Given the description of an element on the screen output the (x, y) to click on. 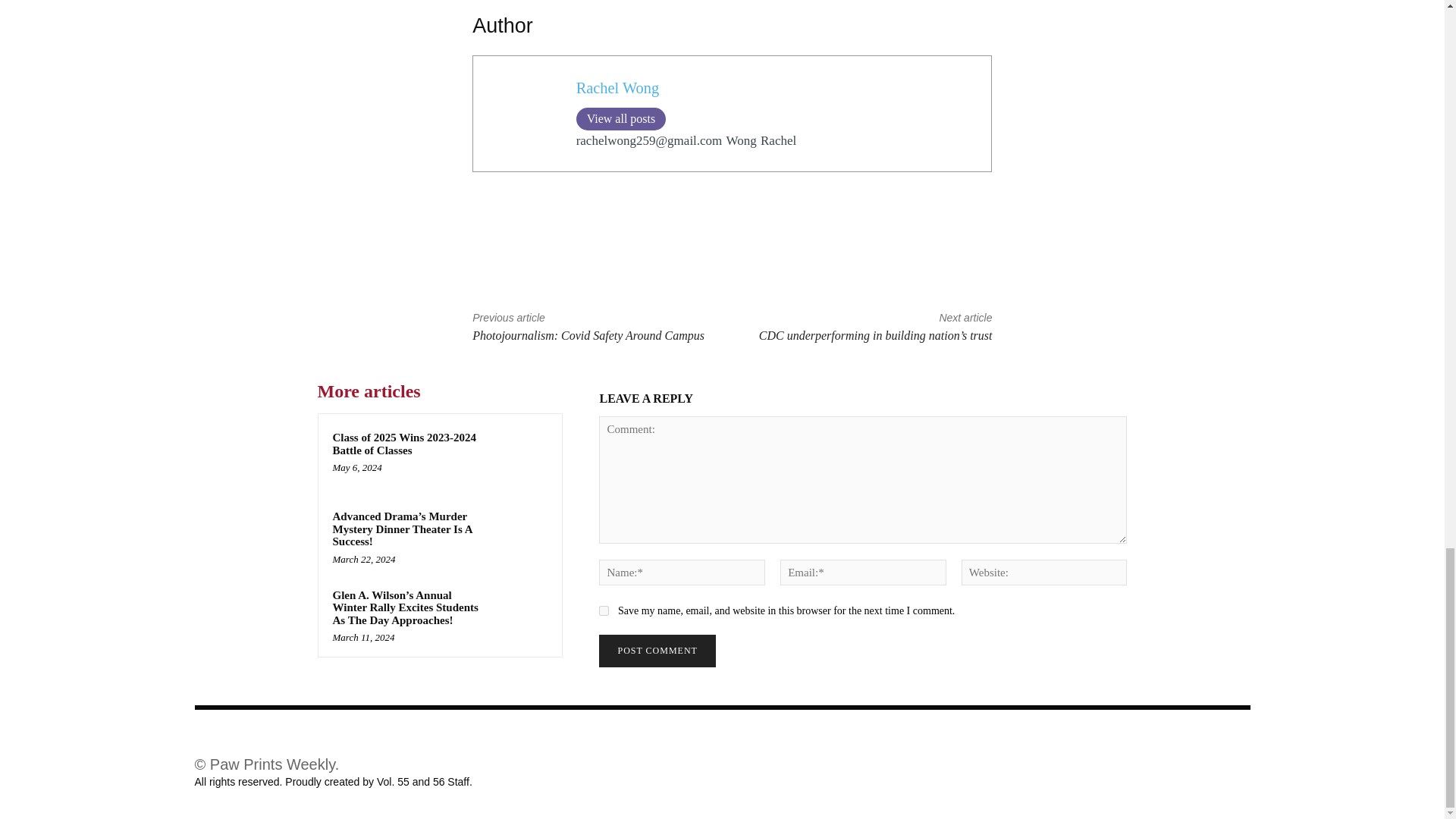
Post Comment (656, 650)
yes (603, 610)
